Given the description of an element on the screen output the (x, y) to click on. 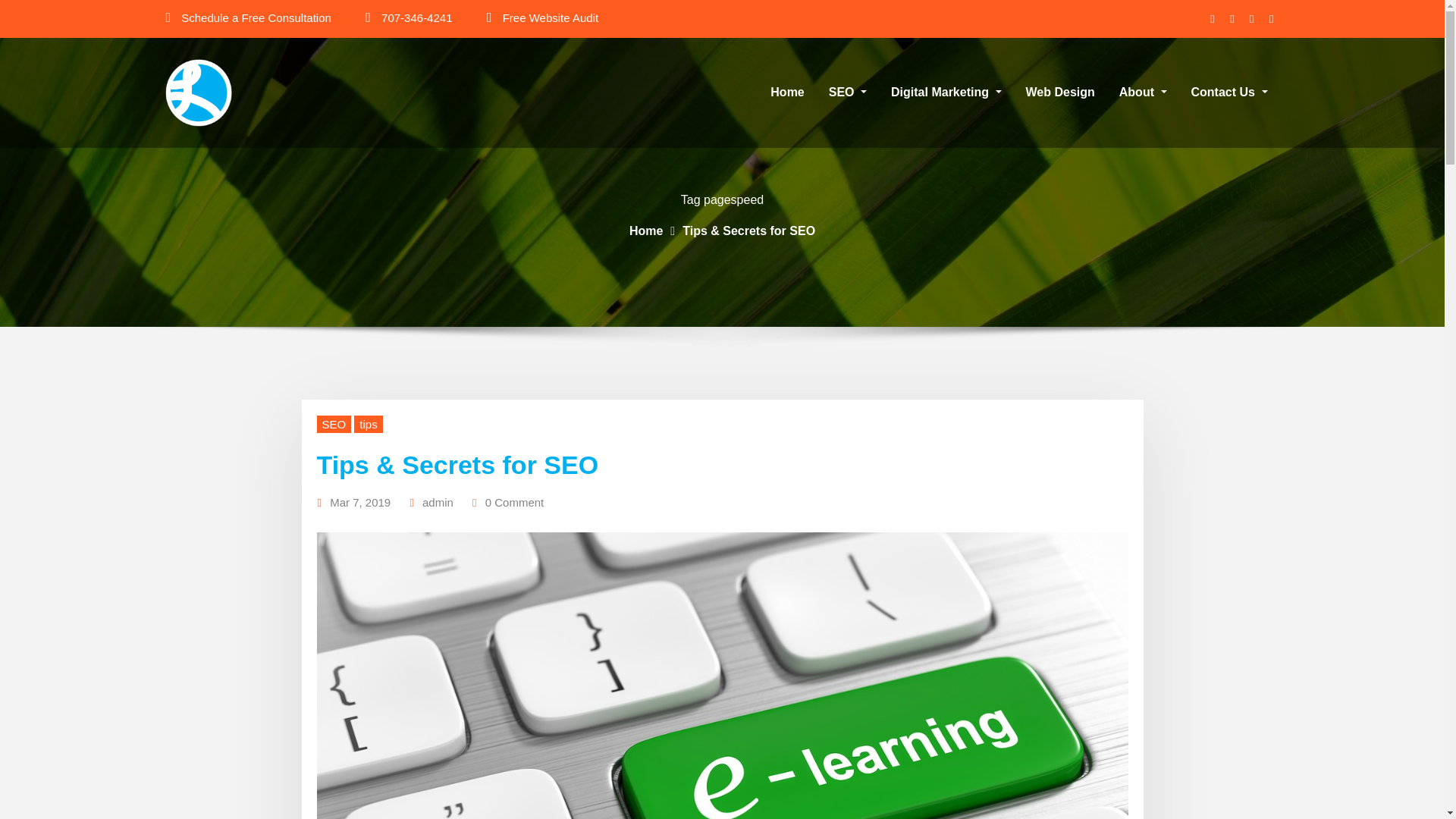
707-346-4241 (416, 17)
0 Comment (514, 502)
Free Website Audit (550, 17)
Contact Us (1229, 92)
Home (645, 230)
Web Design (1059, 92)
About (1142, 92)
Digital Marketing (946, 92)
admin (437, 502)
tips (367, 424)
Mar 7, 2019 (360, 502)
Schedule a Free Consultation (255, 17)
SEO (334, 424)
